Given the description of an element on the screen output the (x, y) to click on. 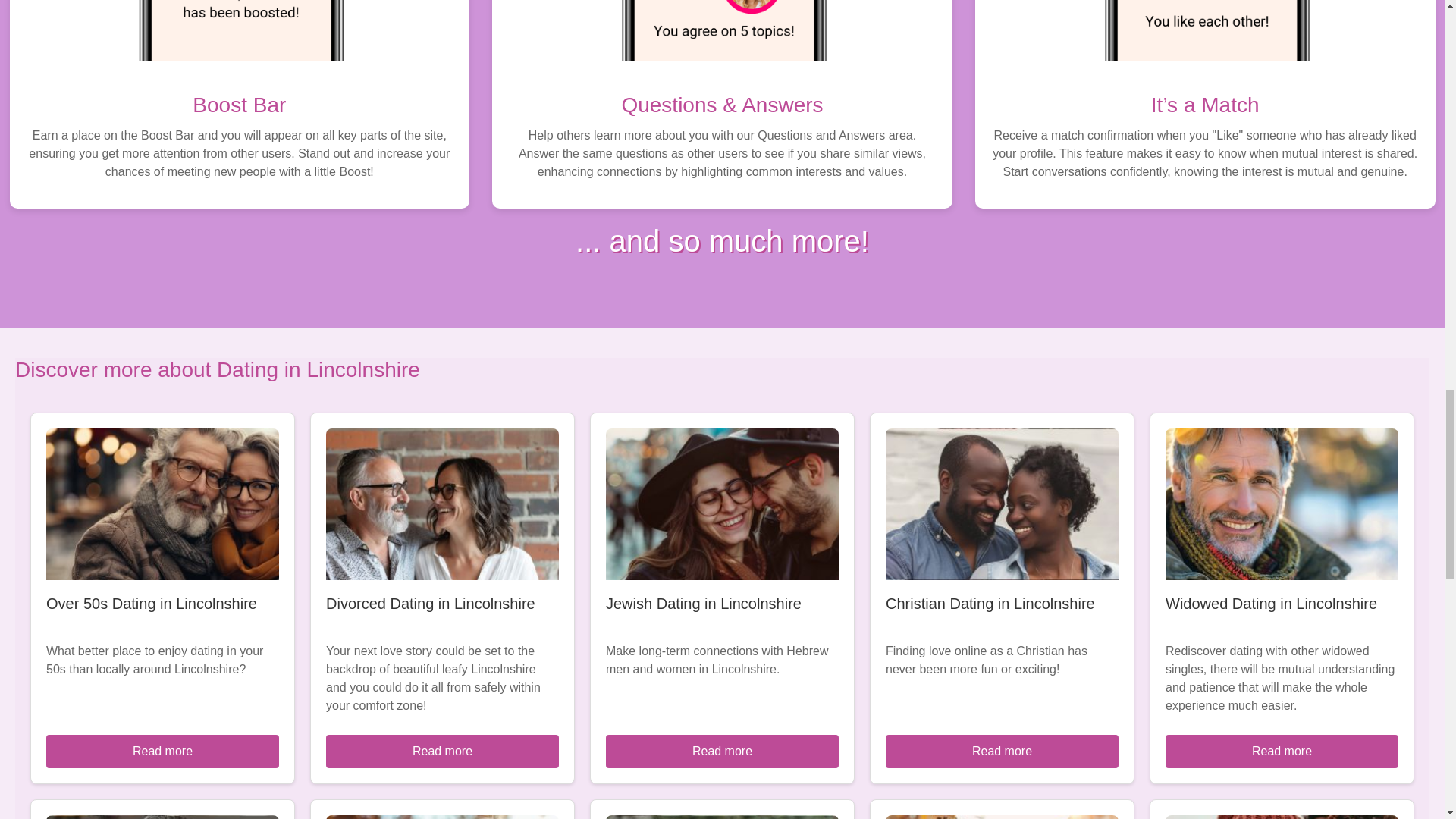
Read more (162, 751)
Read more (721, 751)
Read more (1281, 751)
Read more (442, 751)
Read more (1001, 751)
